Given the description of an element on the screen output the (x, y) to click on. 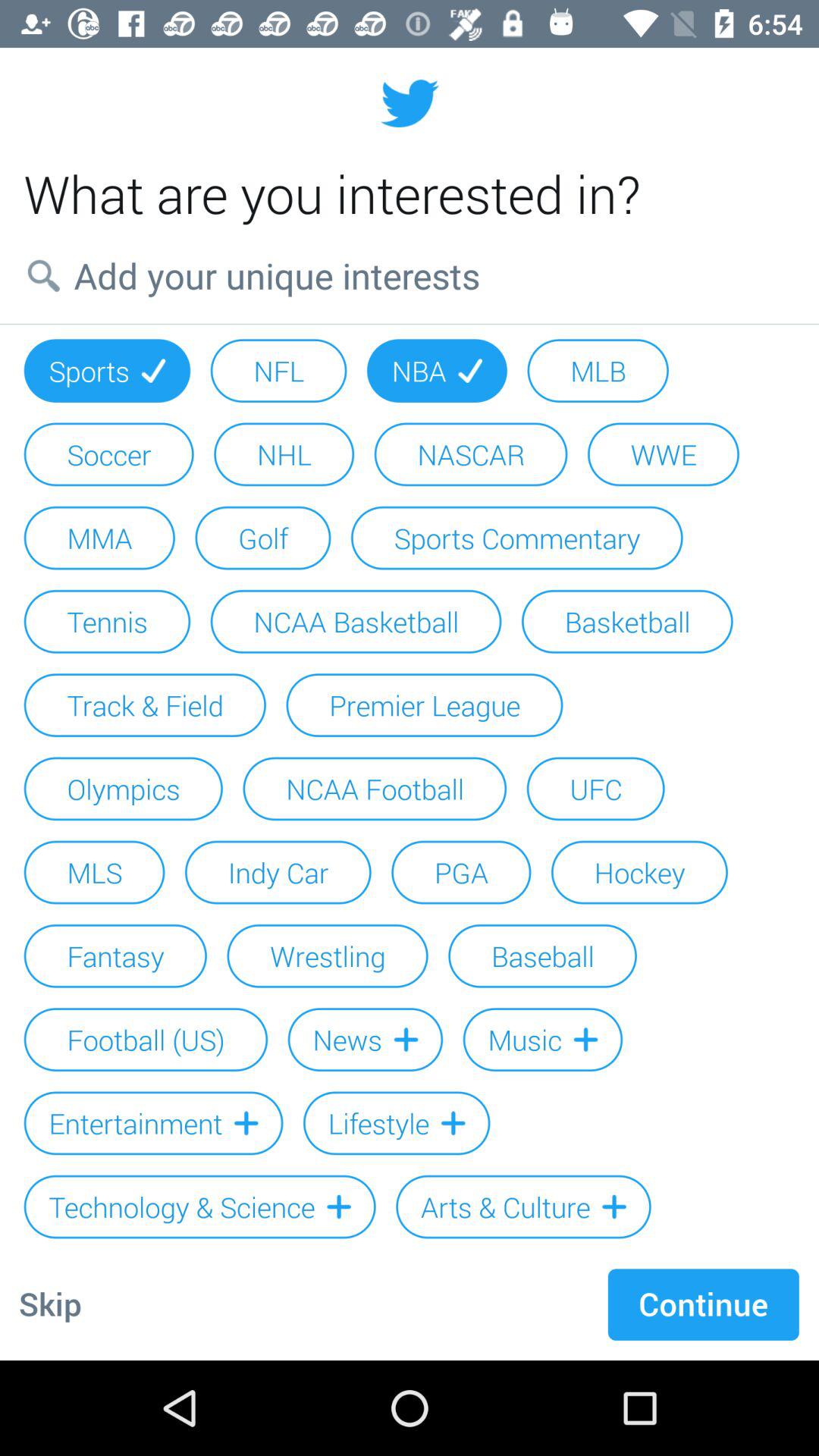
launch the item next to the nhl item (108, 454)
